Given the description of an element on the screen output the (x, y) to click on. 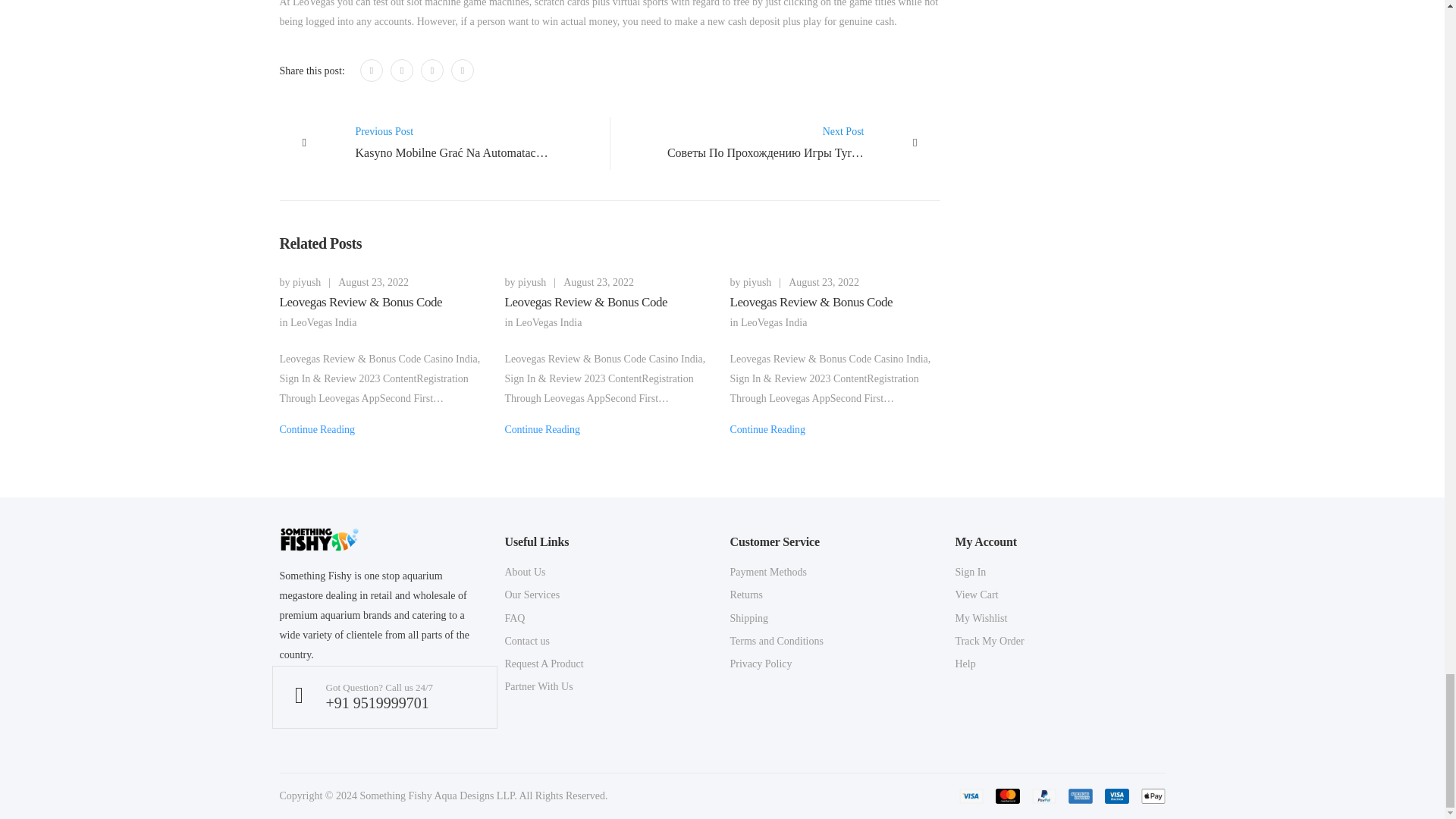
Linkedin (462, 69)
Pinterest (432, 69)
Continue Reading (767, 429)
Continue Reading (316, 429)
Continue Reading (542, 429)
Facebook (370, 69)
Twitter (401, 69)
